Given the description of an element on the screen output the (x, y) to click on. 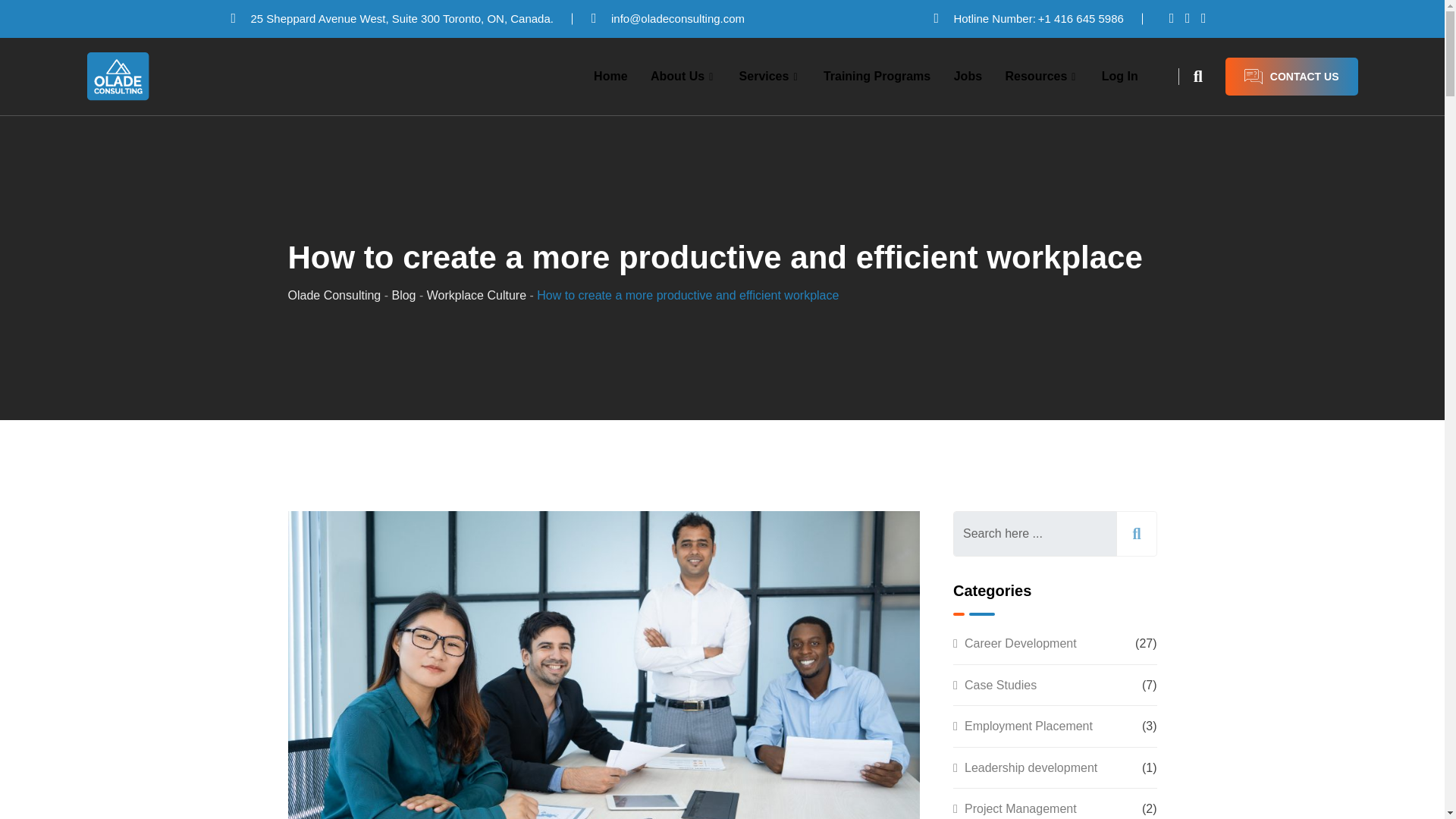
Services (769, 76)
About Us (682, 76)
Resources (1040, 76)
CONTACT US (1291, 76)
Home (610, 76)
Training Programs (876, 76)
Jobs (967, 76)
Log In (1120, 76)
Go to Olade Consulting. (334, 295)
Go to Blog. (402, 295)
Go to the Workplace culture Category archives. (475, 295)
Search (1201, 75)
